Given the description of an element on the screen output the (x, y) to click on. 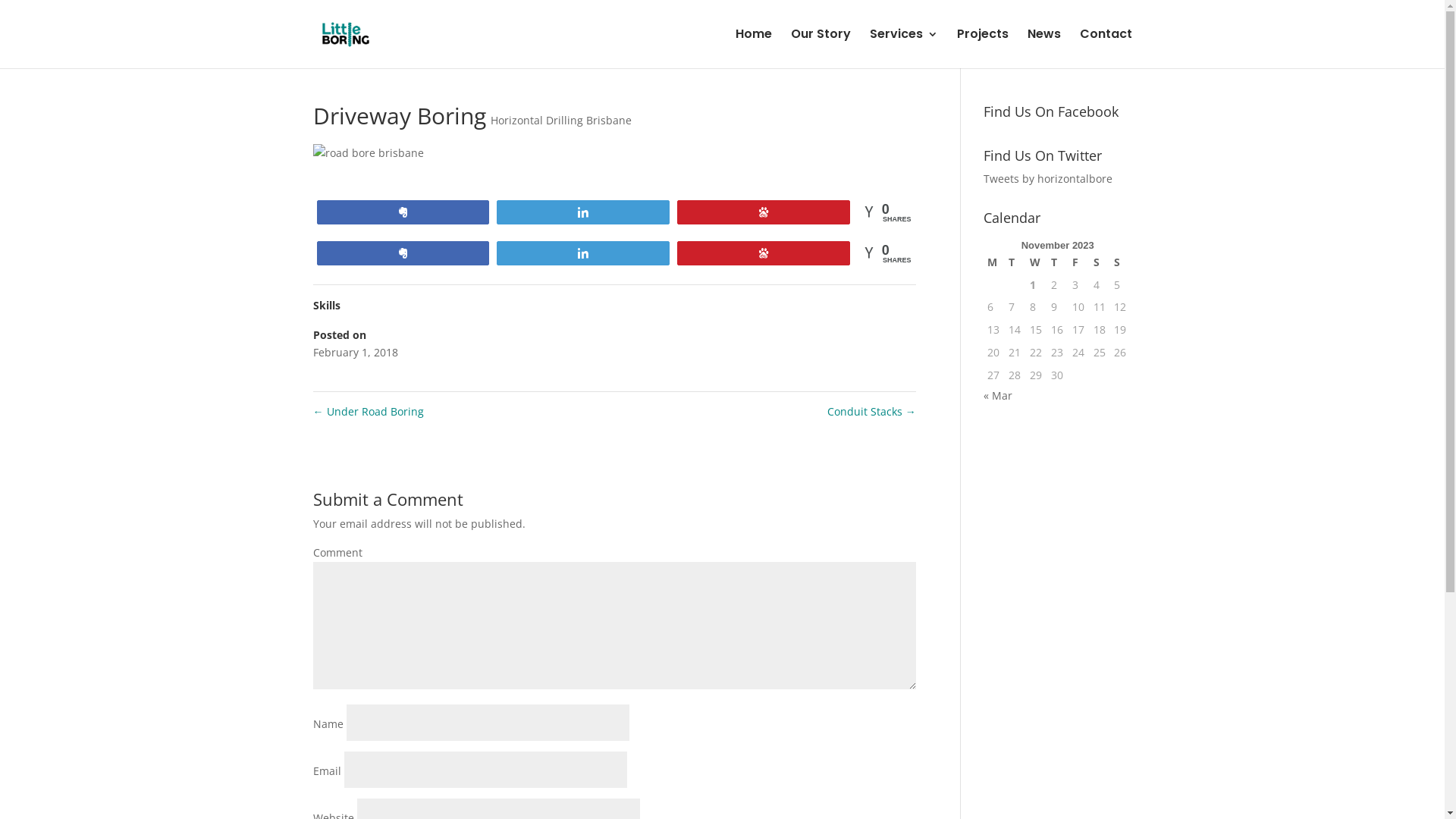
Services Element type: text (903, 48)
Our Story Element type: text (820, 48)
Tweets by horizontalbore Element type: text (1047, 178)
Contact Element type: text (1105, 48)
News Element type: text (1043, 48)
Home Element type: text (753, 48)
Projects Element type: text (982, 48)
Horizontal Drilling Brisbane Element type: text (559, 119)
